Given the description of an element on the screen output the (x, y) to click on. 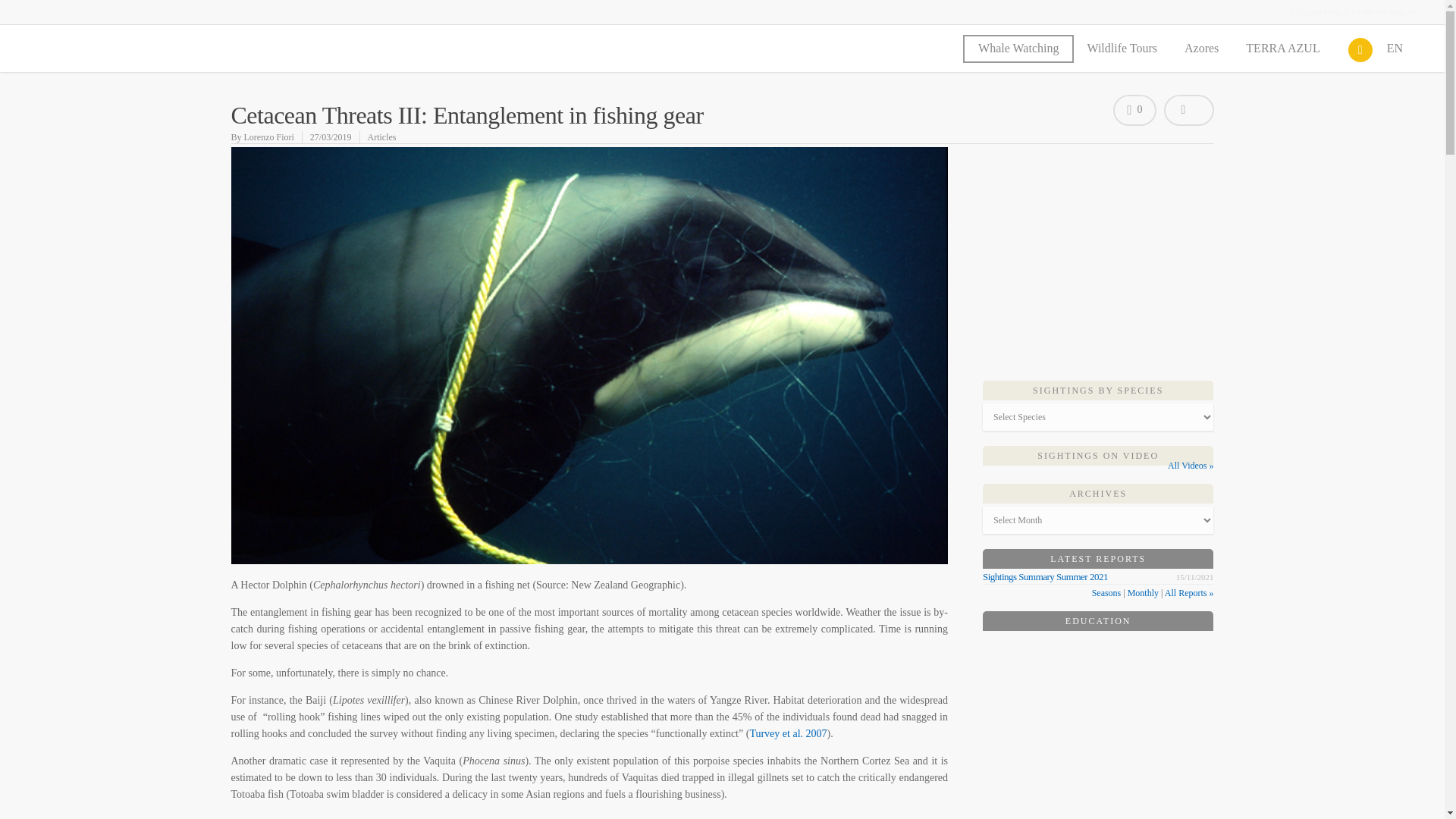
Articles (382, 136)
0 (1134, 110)
Lorenzo Fiori (269, 136)
Azores (1208, 52)
EN (1401, 52)
Latest Reports (1097, 558)
TERRA AZUL (1289, 52)
Education (1098, 620)
Love this (1134, 110)
Wildlife Tours (1128, 52)
Whale Watching (1018, 52)
Permalink to Sightings Summary Summer 2021 (1045, 576)
Posts by Lorenzo Fiori (269, 136)
EN (1401, 52)
Sightings on Video (1097, 455)
